Given the description of an element on the screen output the (x, y) to click on. 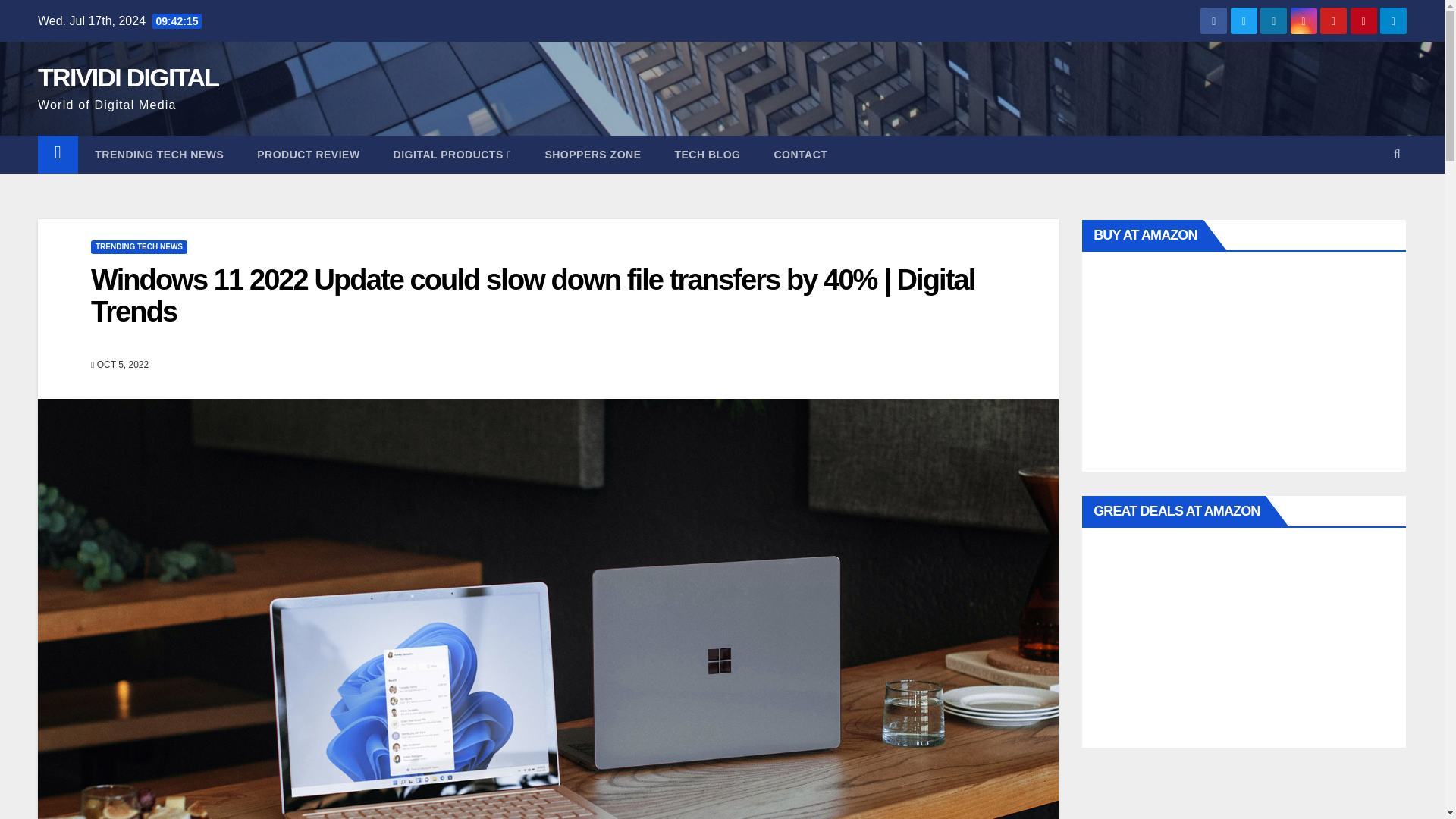
TRENDING TECH NEWS (138, 246)
CONTACT (800, 154)
SHOPPERS ZONE (592, 154)
TRIVIDI DIGITAL (127, 77)
TRENDING TECH NEWS (159, 154)
PRODUCT REVIEW (307, 154)
TECH BLOG (707, 154)
DIGITAL PRODUCTS (452, 154)
